Given the description of an element on the screen output the (x, y) to click on. 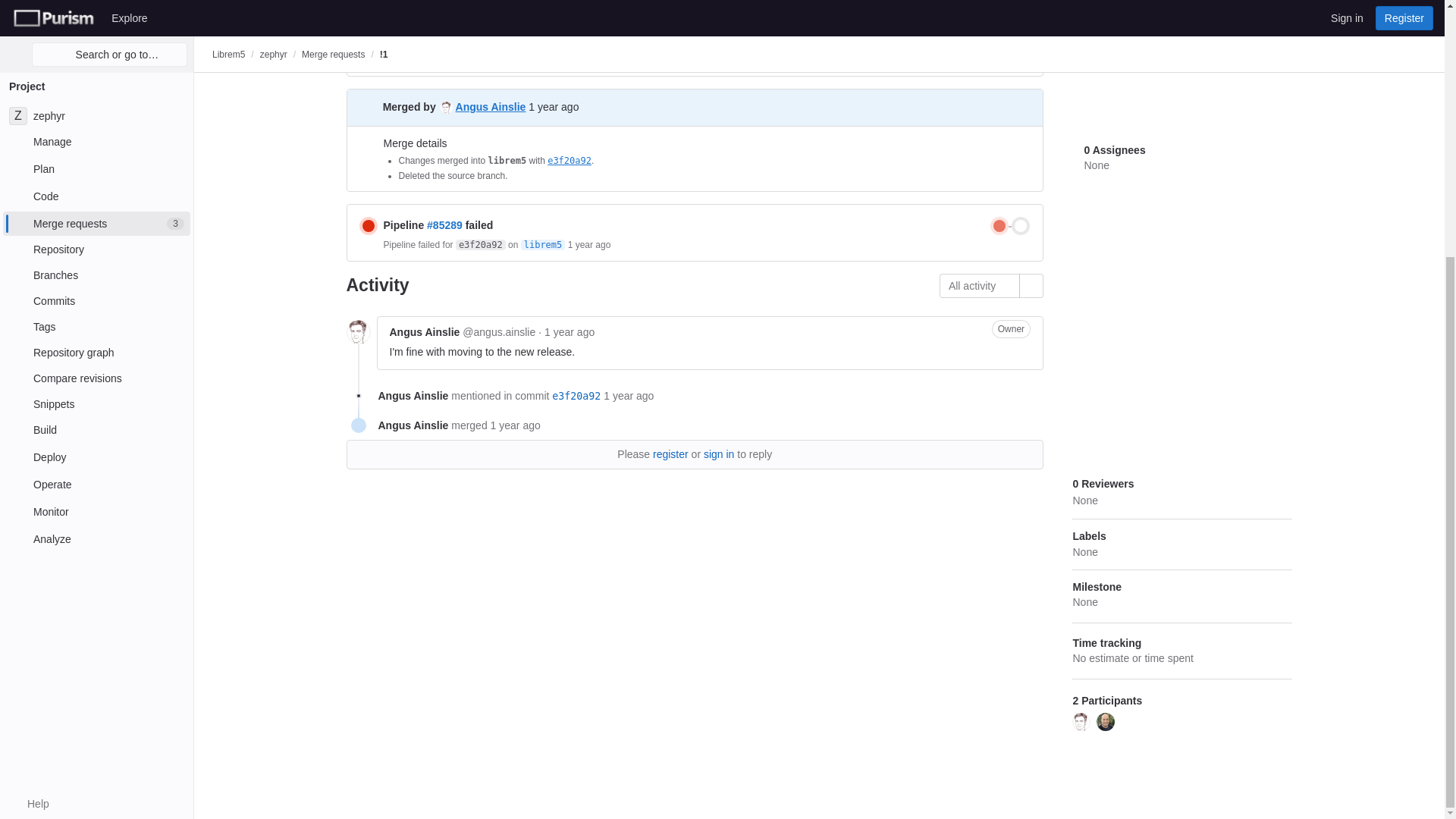
Operate (96, 118)
Deploy (96, 90)
Compare revisions (96, 12)
Snippets (96, 37)
Monitor (96, 145)
Build (96, 63)
